Given the description of an element on the screen output the (x, y) to click on. 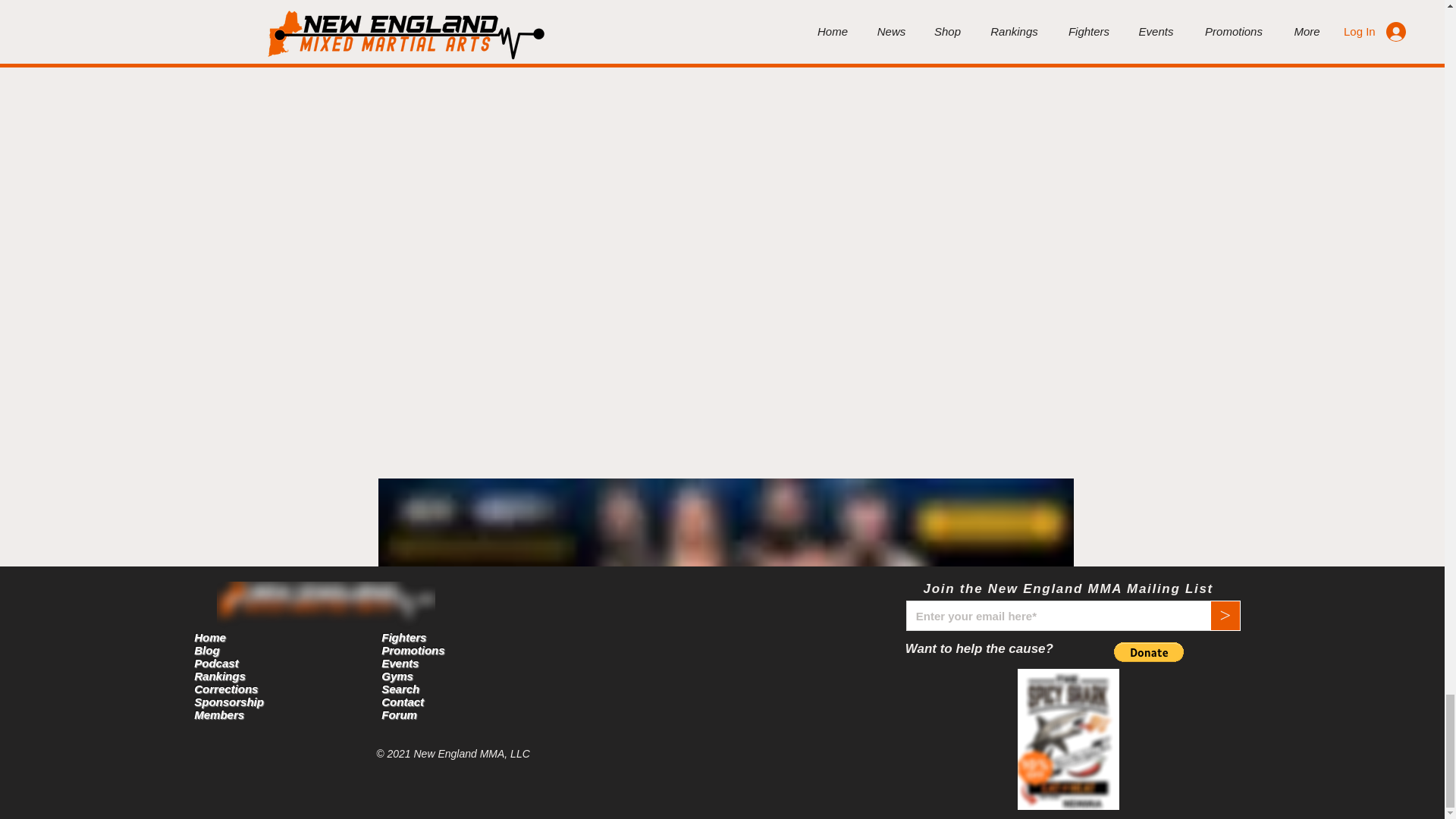
Forum (398, 714)
Search (400, 688)
Blog (206, 649)
Corrections (225, 688)
Home (209, 636)
Contact (402, 701)
Promotions (412, 649)
Gyms (397, 675)
Podcast (215, 662)
Rankings (219, 675)
Members (218, 714)
Fighters (403, 636)
Sponsorship (228, 701)
Events (400, 662)
